Given the description of an element on the screen output the (x, y) to click on. 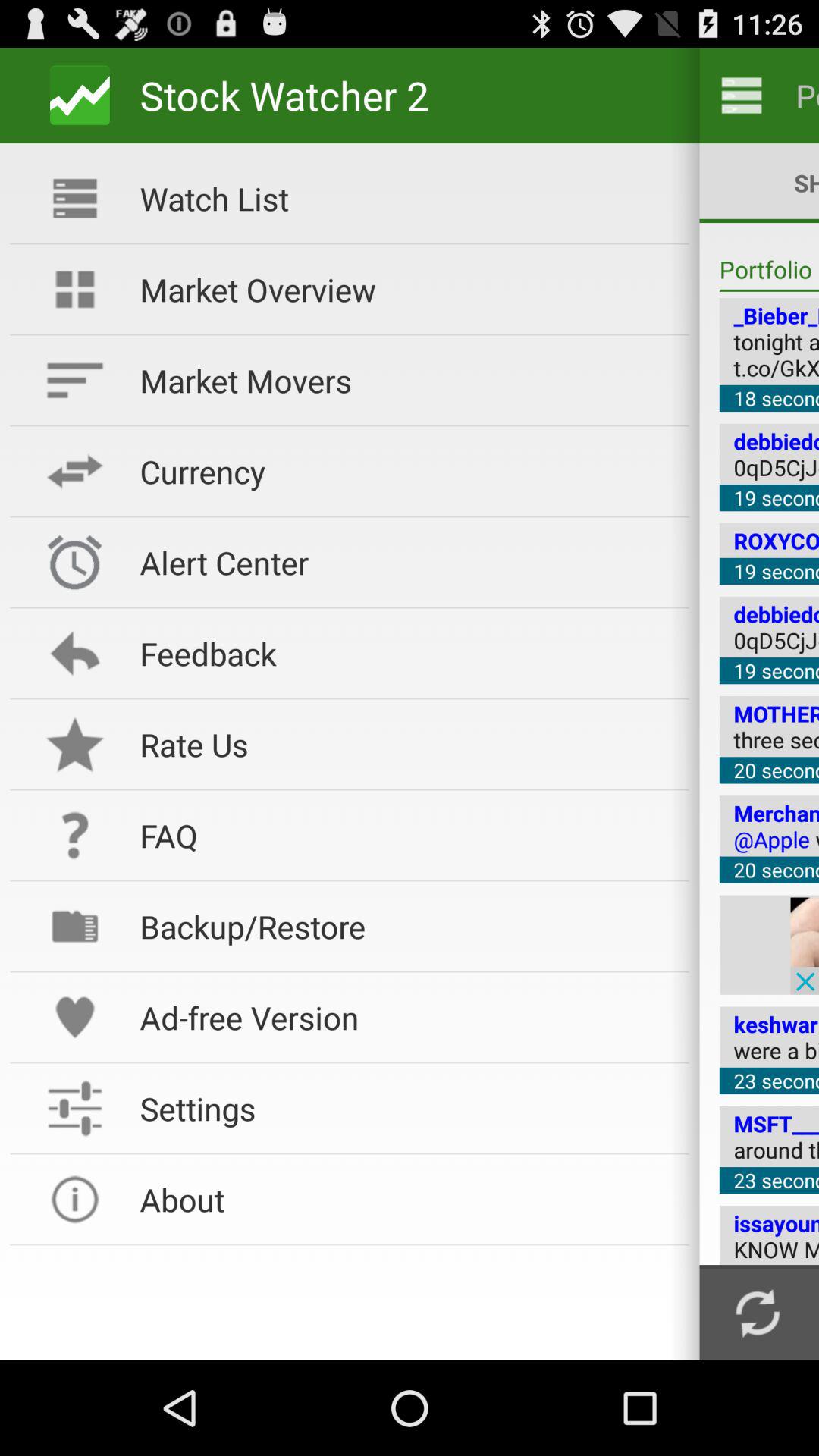
see advertisement (804, 944)
